Given the description of an element on the screen output the (x, y) to click on. 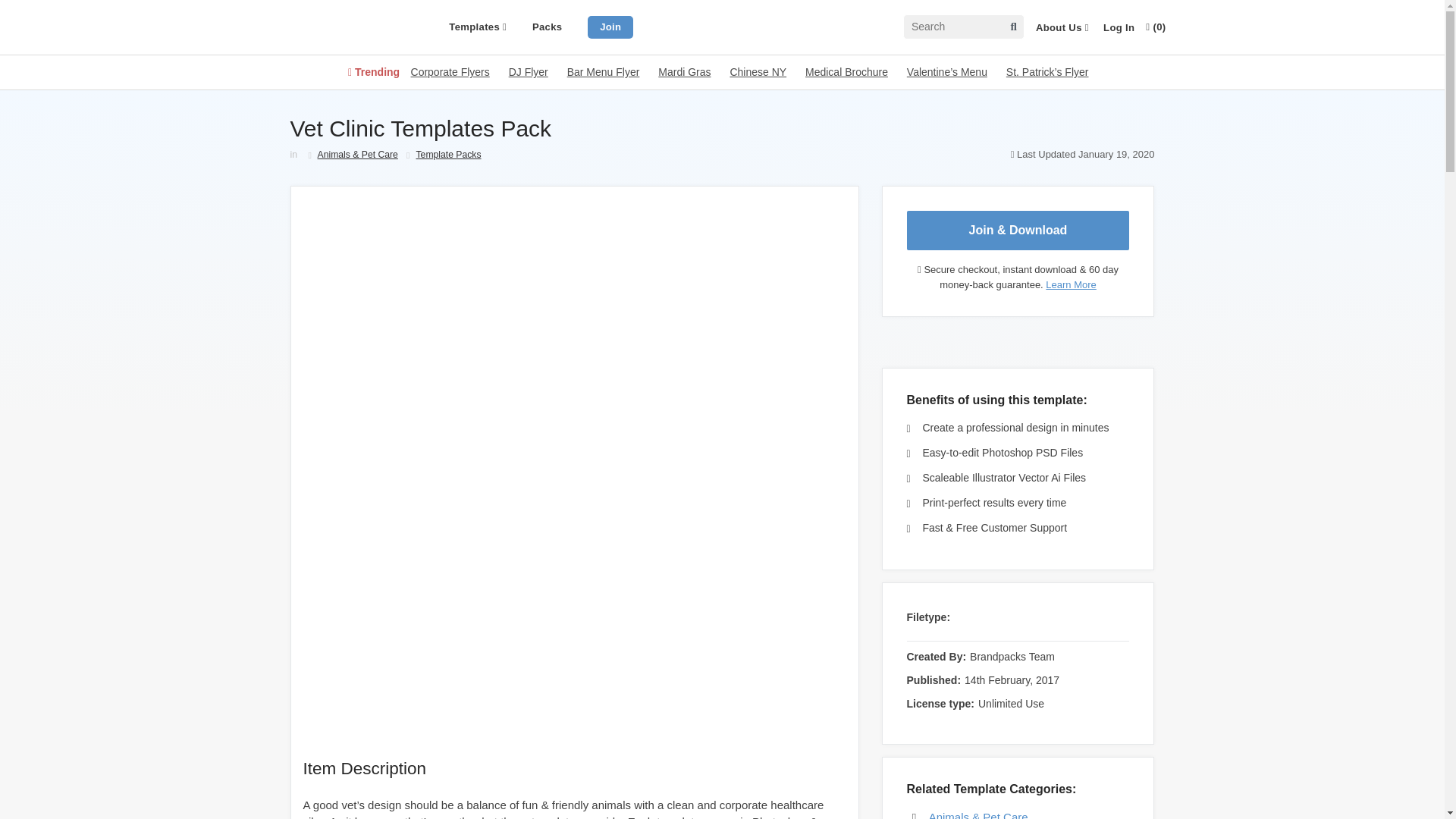
Packs (547, 27)
About Us (1062, 27)
Cocktail Menu Template (757, 71)
Templates (478, 27)
Join (610, 26)
Bar Menu Flyer Template (603, 71)
Corporate Flyer Templates (449, 71)
